Given the description of an element on the screen output the (x, y) to click on. 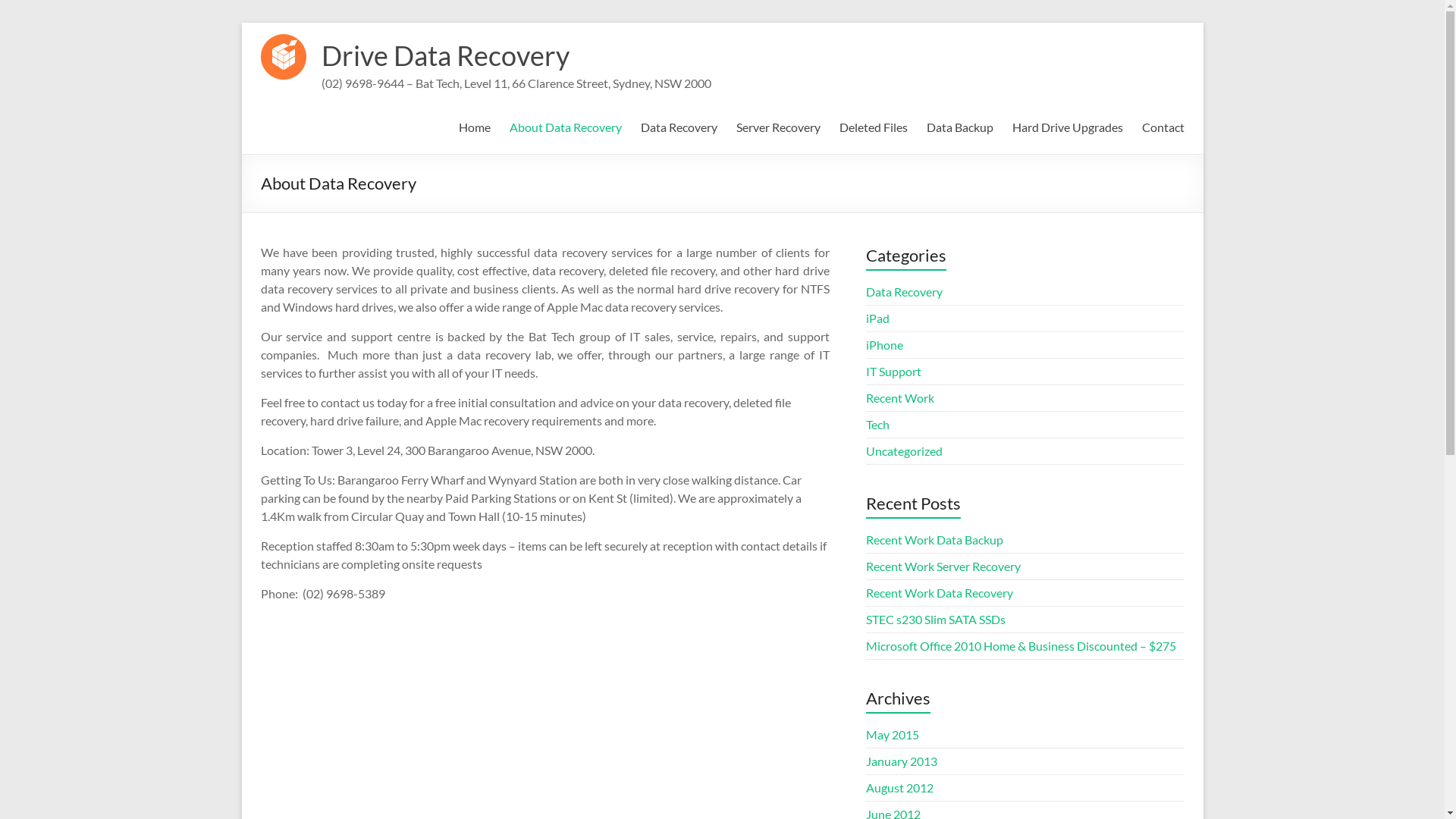
August 2012 Element type: text (899, 787)
Data Recovery Element type: text (904, 291)
Recent Work Element type: text (900, 397)
About Data Recovery Element type: text (565, 124)
Uncategorized Element type: text (904, 450)
iPhone Element type: text (884, 344)
IT Support Element type: text (893, 371)
January 2013 Element type: text (901, 760)
Server Recovery Element type: text (777, 124)
iPad Element type: text (877, 317)
Home Element type: text (473, 124)
Recent Work Data Recovery Element type: text (939, 592)
Data Backup Element type: text (959, 124)
STEC s230 Slim SATA SSDs Element type: text (935, 618)
Contact Element type: text (1163, 124)
Recent Work Data Backup Element type: text (934, 539)
May 2015 Element type: text (892, 734)
Data Recovery Element type: text (678, 124)
Deleted Files Element type: text (872, 124)
Recent Work Server Recovery Element type: text (943, 565)
Drive Data Recovery Element type: hover (283, 41)
Hard Drive Upgrades Element type: text (1066, 124)
Drive Data Recovery Element type: text (445, 55)
Tech Element type: text (877, 424)
